Given the description of an element on the screen output the (x, y) to click on. 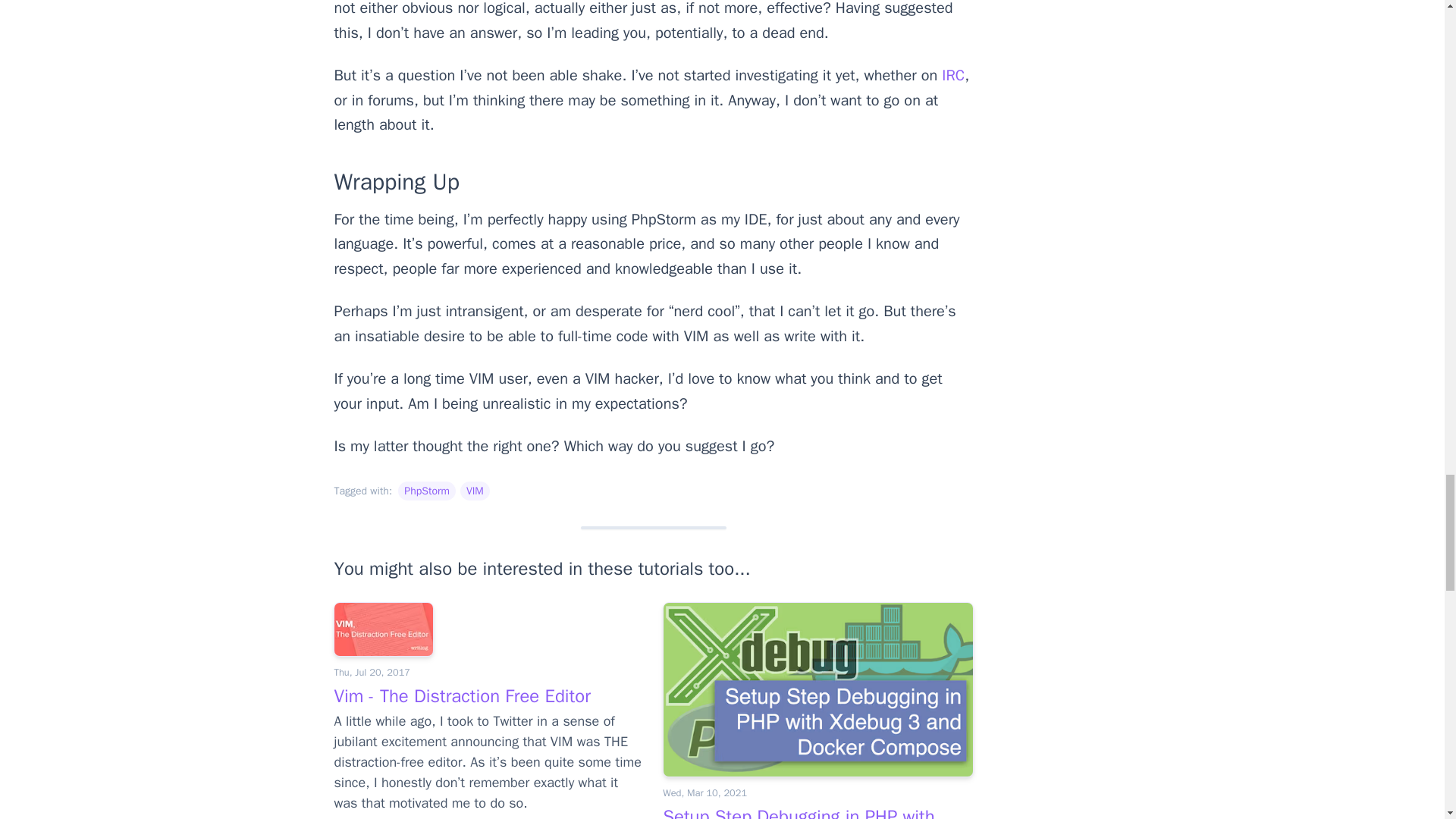
VIM (474, 490)
Vim - The Distraction Free Editor (461, 695)
PhpStorm (426, 490)
